Given the description of an element on the screen output the (x, y) to click on. 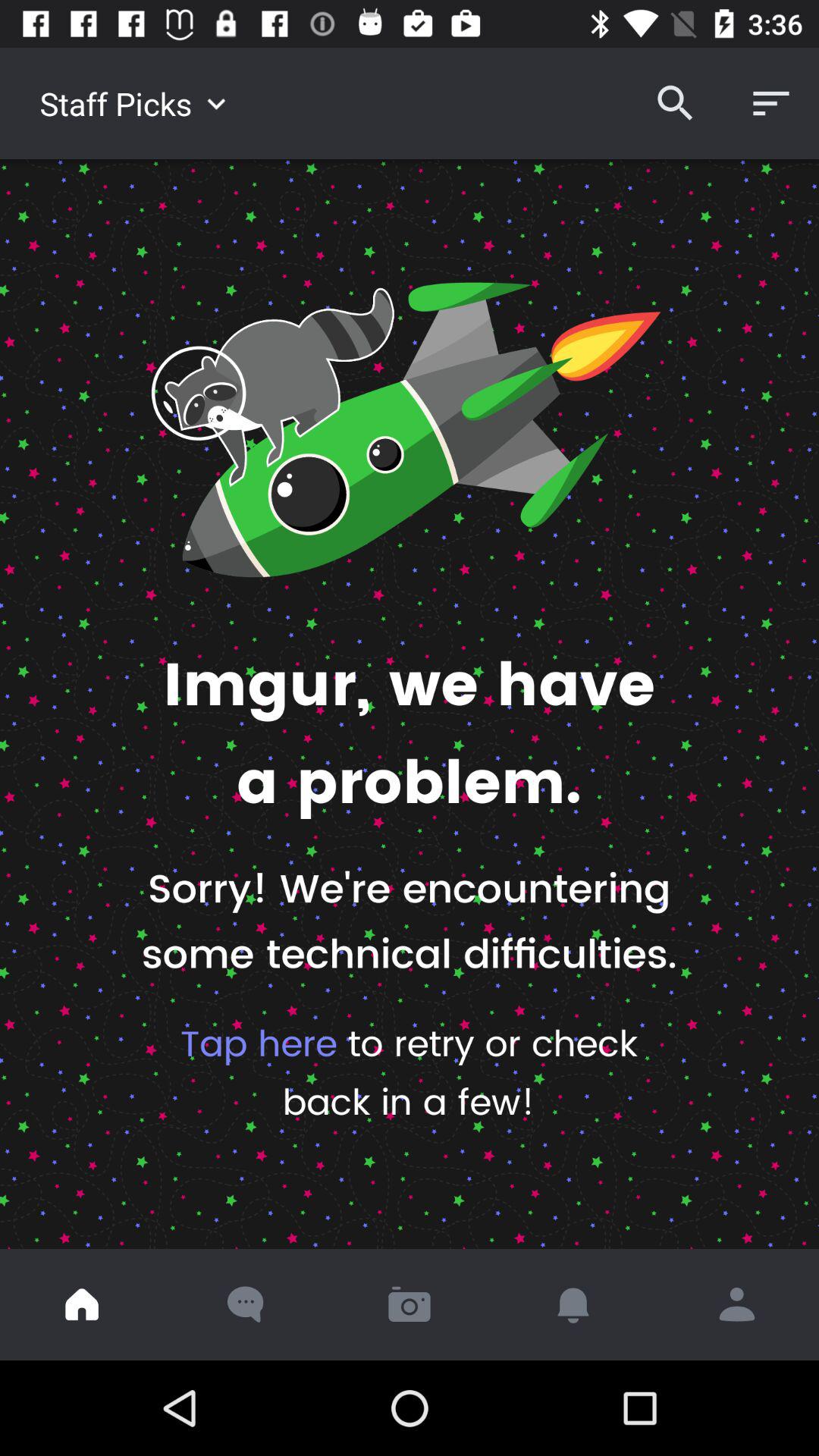
go to homepage (81, 1304)
